Given the description of an element on the screen output the (x, y) to click on. 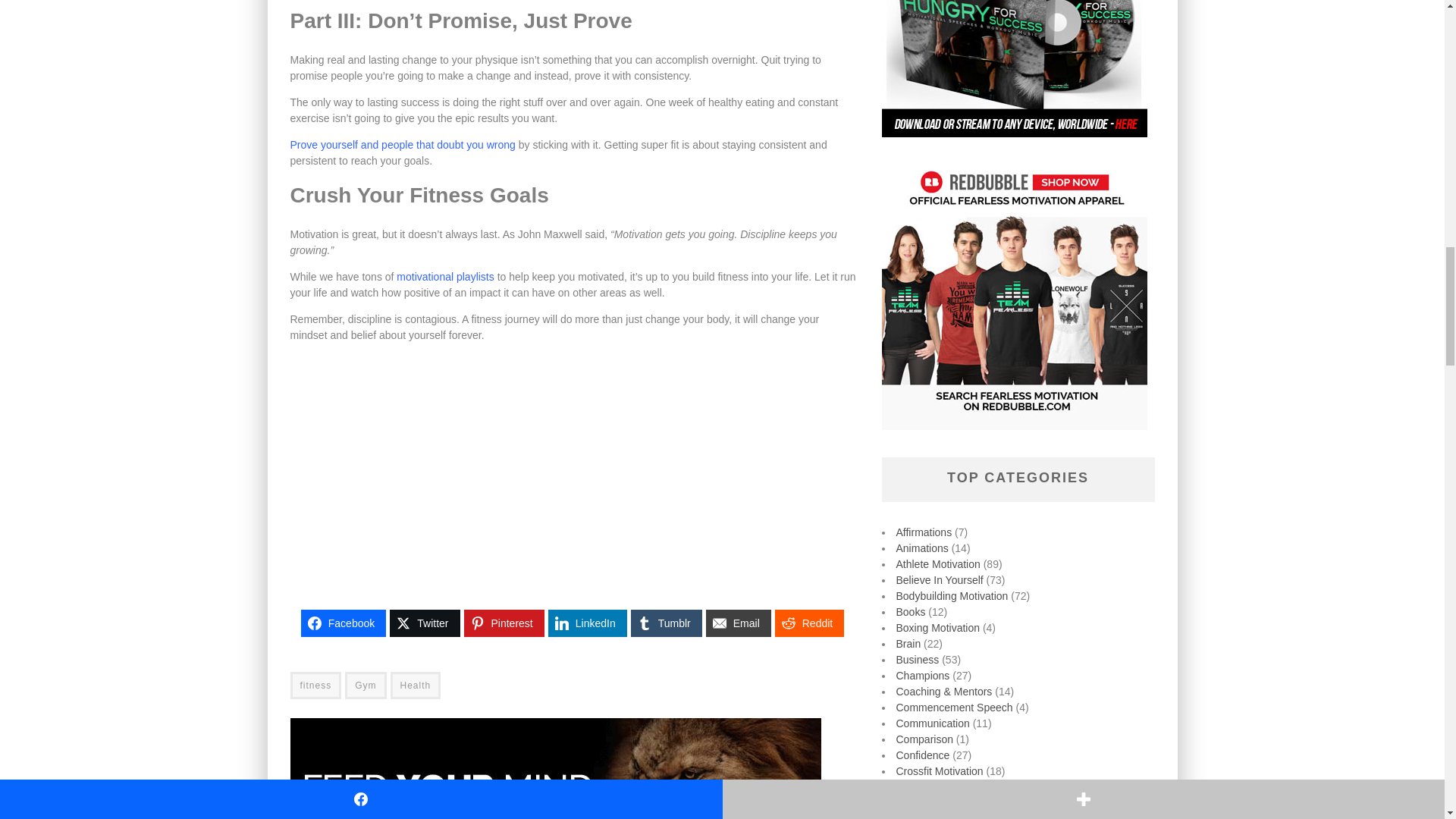
Share on LinkedIn (587, 623)
Share on Tumblr (665, 623)
Share on Pinterest (504, 623)
Share on Twitter (425, 623)
Share on Facebook (343, 623)
